Given the description of an element on the screen output the (x, y) to click on. 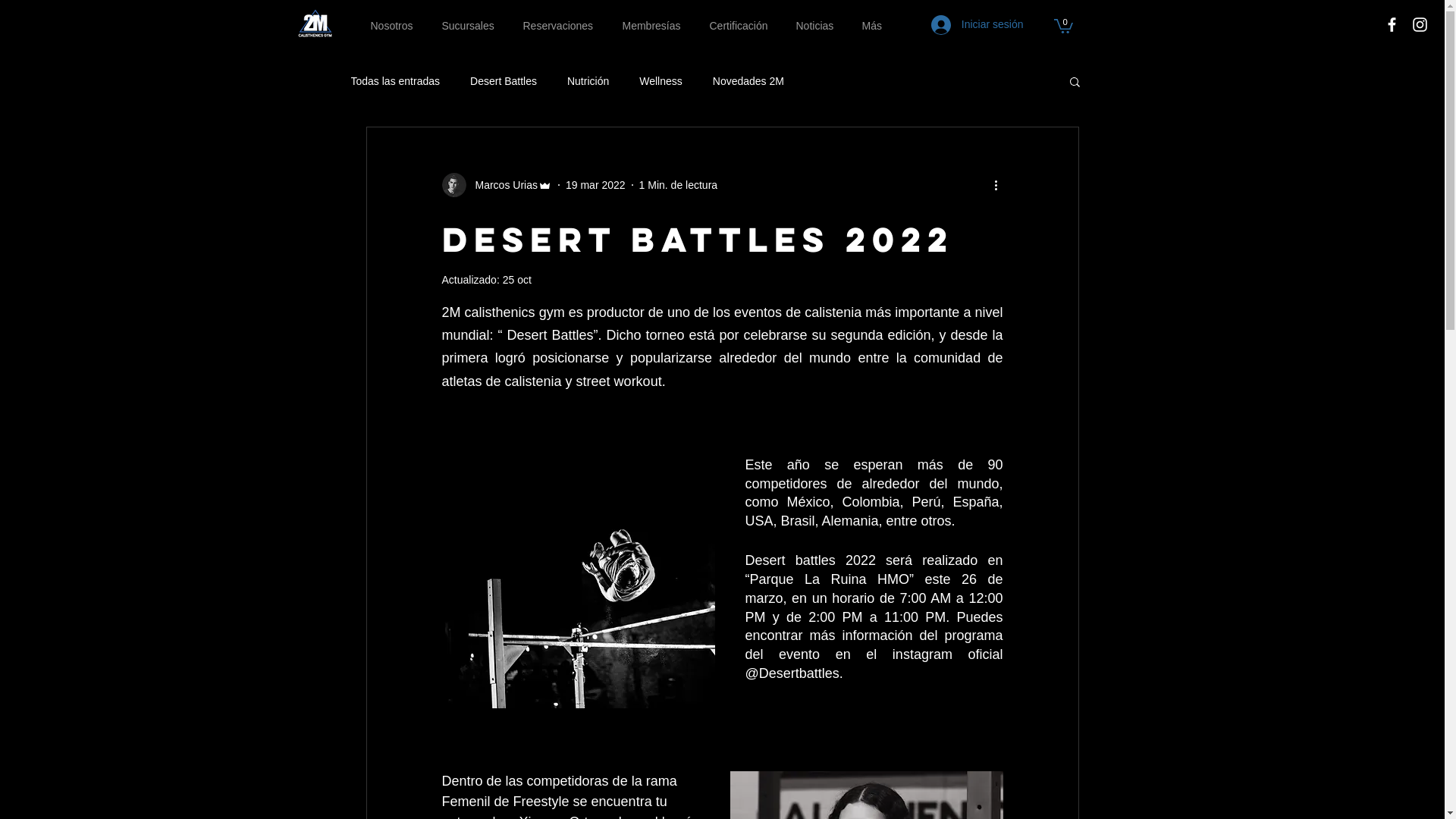
Noticias Element type: text (817, 25)
0 Element type: text (1063, 25)
Novedades 2M Element type: text (748, 81)
Desert Battles Element type: text (503, 81)
Sucursales Element type: text (470, 25)
Wellness Element type: text (660, 81)
Marcos Urias Element type: text (496, 184)
Nosotros Element type: text (394, 25)
Todas las entradas Element type: text (394, 81)
